Given the description of an element on the screen output the (x, y) to click on. 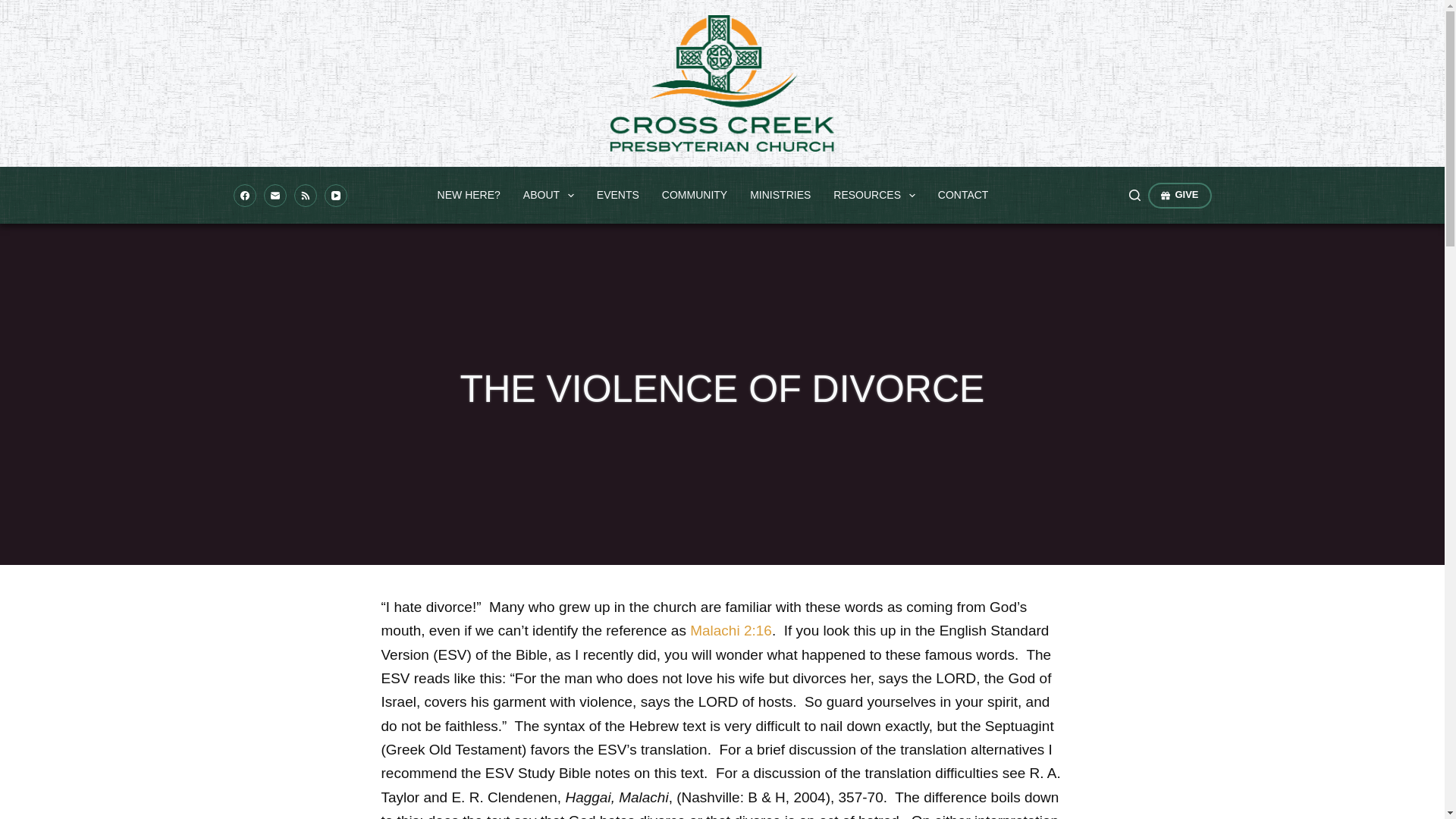
ABOUT (548, 195)
NEW HERE? (469, 195)
Skip to content (15, 7)
